Given the description of an element on the screen output the (x, y) to click on. 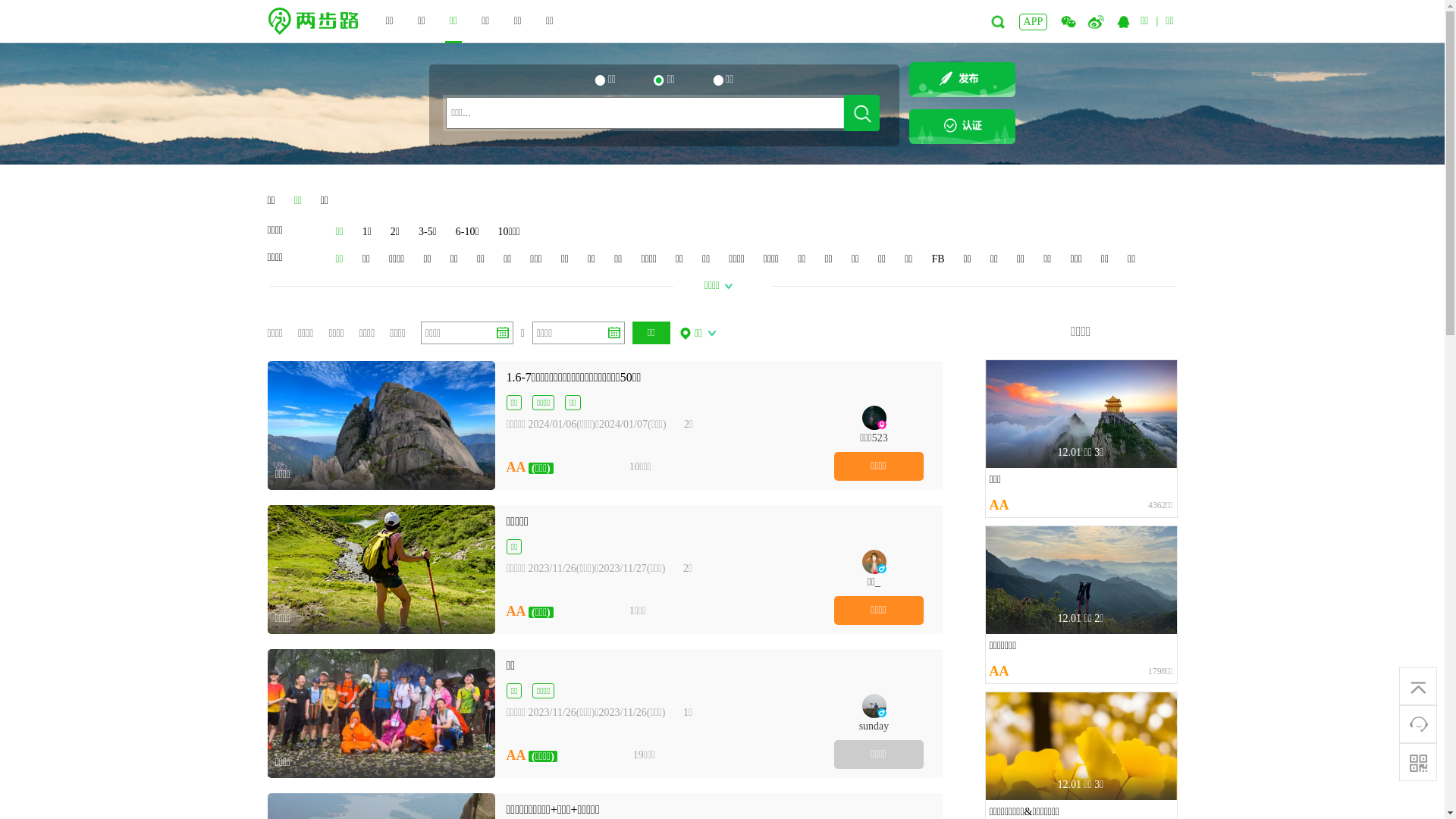
APP Element type: text (1033, 21)
